Given the description of an element on the screen output the (x, y) to click on. 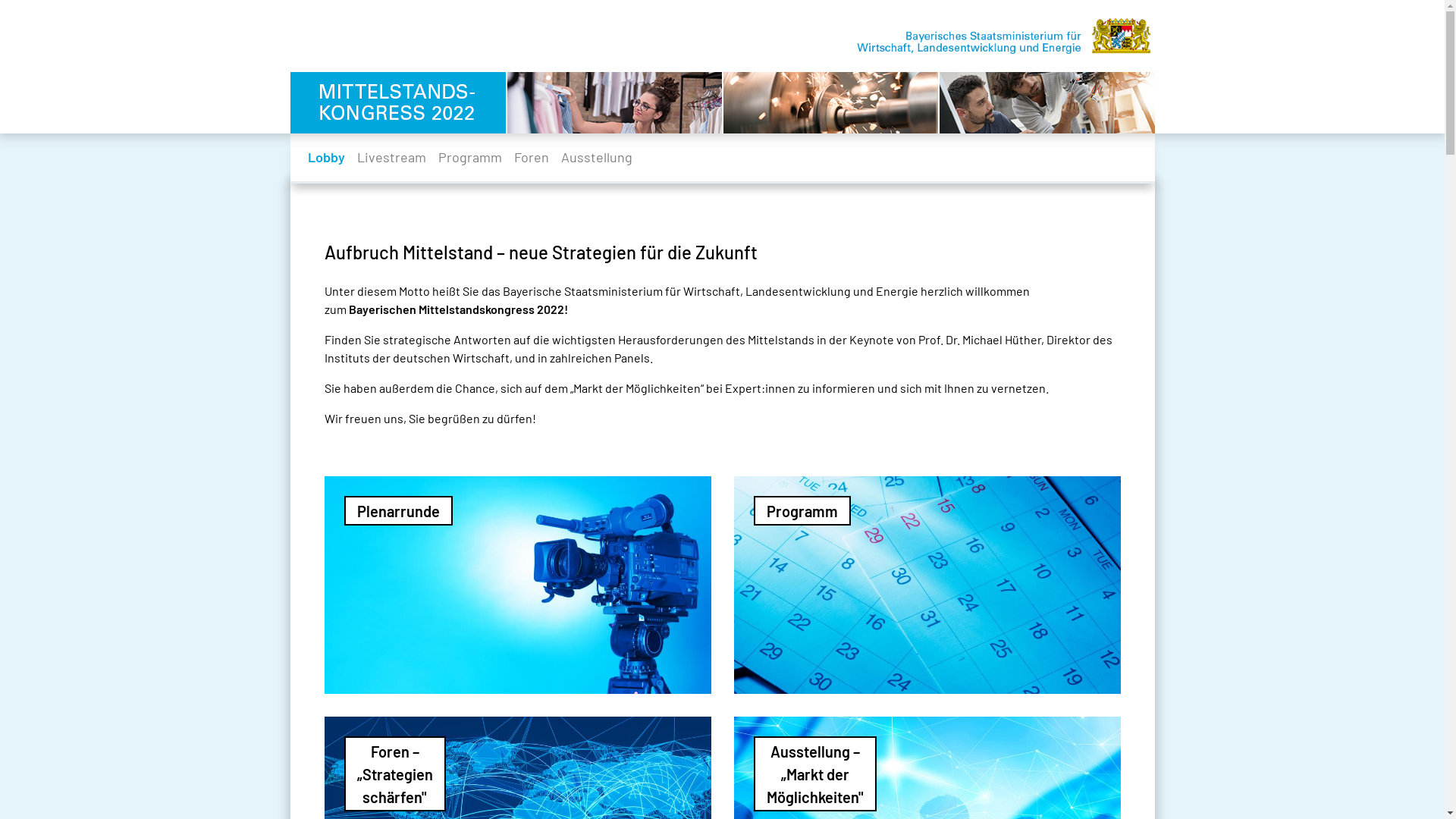
Plenarrunde Element type: text (517, 584)
Ausstellung Element type: text (596, 157)
Livestream Element type: text (390, 157)
Direkt zum Inhalt Element type: text (0, 0)
Foren Element type: text (531, 157)
Programm Element type: text (470, 157)
Lobby Element type: text (326, 157)
Programm Element type: text (927, 584)
